Given the description of an element on the screen output the (x, y) to click on. 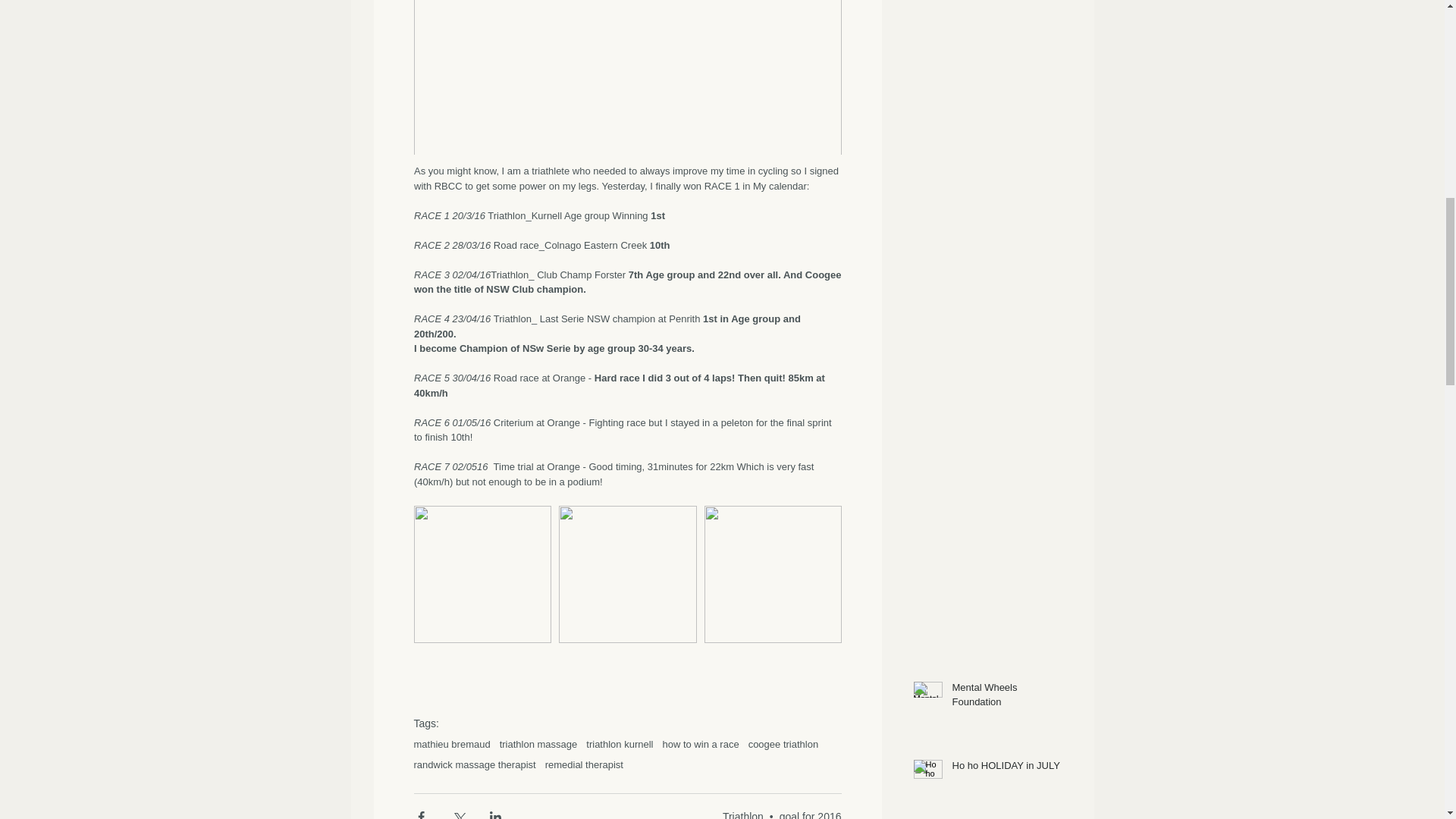
goal for 2016 (809, 814)
triathlon massage (538, 744)
Ho ho HOLIDAY in JULY (1006, 768)
coogee triathlon (783, 744)
remedial therapist (583, 764)
triathlon kurnell (619, 744)
Mental Wheels Foundation (1006, 697)
randwick massage therapist (474, 764)
Triathlon (742, 814)
mathieu bremaud (451, 744)
how to win a race (700, 744)
